Given the description of an element on the screen output the (x, y) to click on. 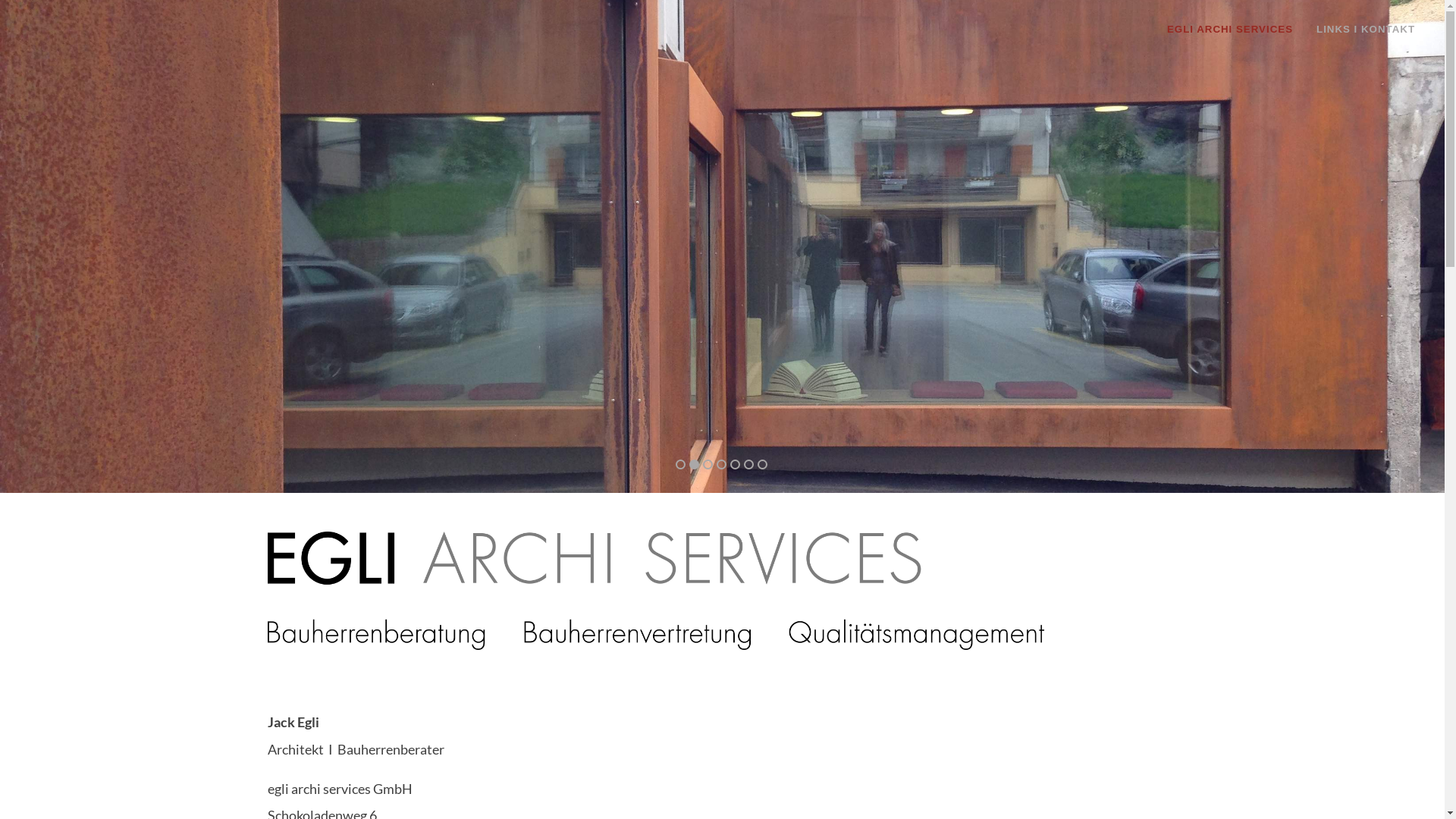
6 Element type: text (748, 464)
4 Element type: text (721, 463)
3 Element type: text (706, 463)
LINKS I KONTAKT Element type: text (1365, 29)
1 Element type: text (676, 463)
EGLI ARCHI SERVICES Element type: text (1235, 29)
7 Element type: text (762, 464)
5 Element type: text (735, 464)
2 Element type: text (691, 463)
